Given the description of an element on the screen output the (x, y) to click on. 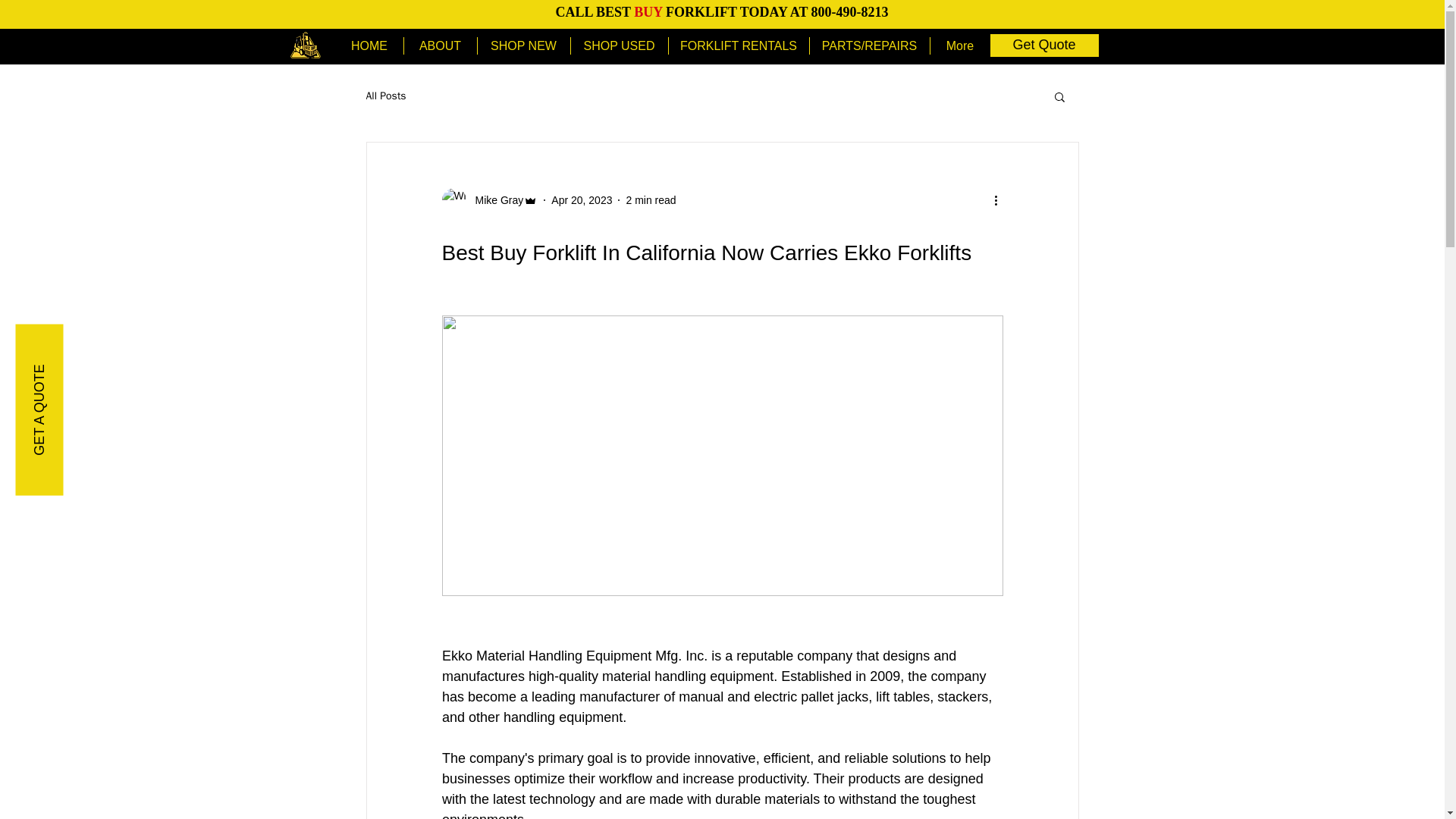
Apr 20, 2023 (581, 200)
All Posts (385, 96)
SHOP NEW (523, 45)
800-490-8213 (849, 11)
GET A QUOTE (100, 347)
2 min read (650, 200)
HOME (368, 45)
Get Quote (1044, 45)
SHOP USED (618, 45)
ABOUT (439, 45)
